Given the description of an element on the screen output the (x, y) to click on. 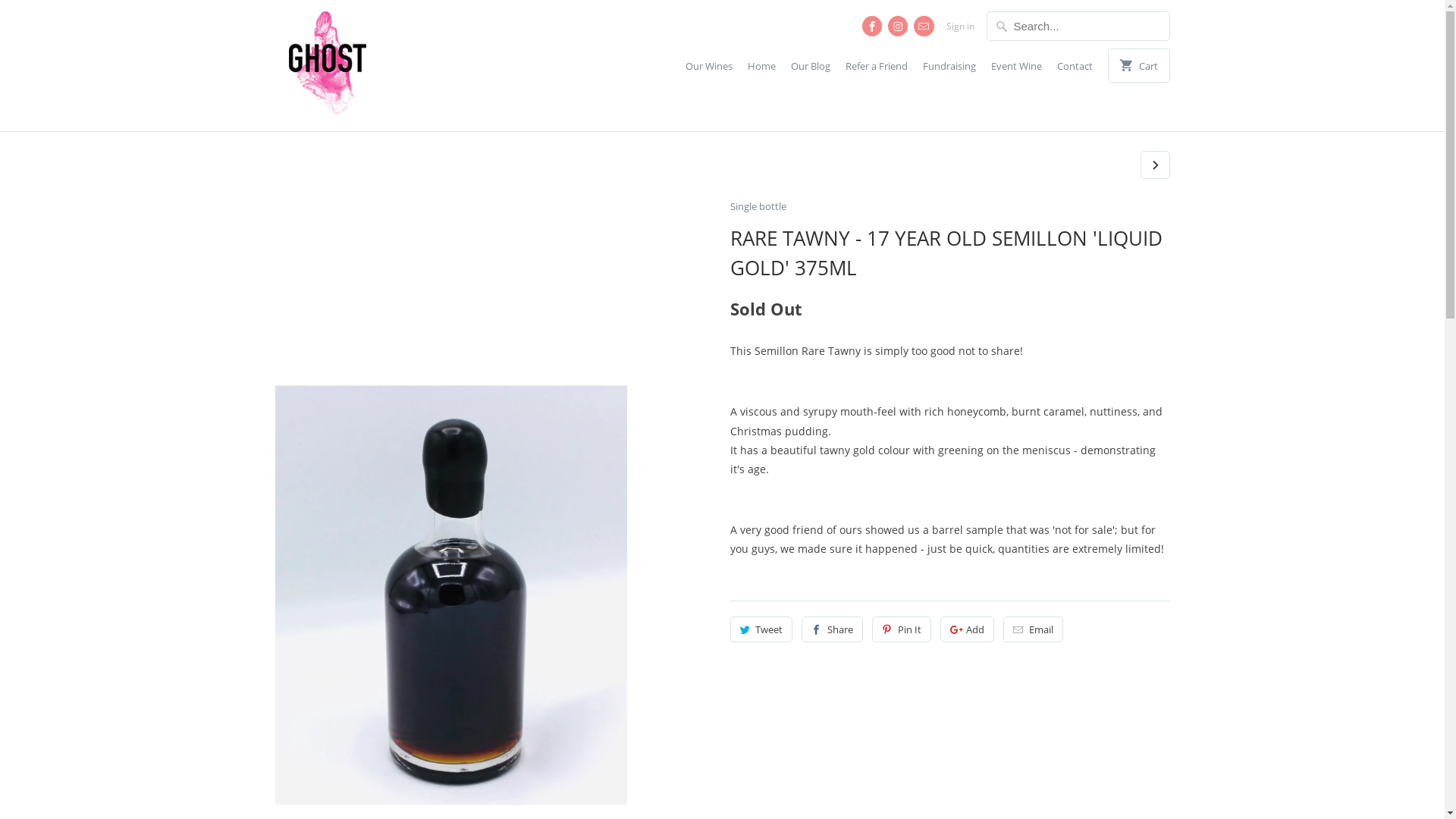
Single bottle Element type: text (949, 210)
Our Wines Element type: text (708, 69)
Pin It Element type: text (901, 629)
Email Element type: text (1033, 629)
Event Wine Element type: text (1016, 69)
Tweet Element type: text (760, 629)
Add Element type: text (967, 629)
Ghost Wines on Facebook Element type: hover (871, 25)
Ghost Wines on Instagram Element type: hover (897, 25)
Share Element type: text (831, 629)
Home Element type: text (761, 69)
Sign in Element type: text (960, 26)
Fundraising Element type: text (948, 69)
Refer a Friend Element type: text (876, 69)
Ghost Wines Element type: hover (380, 65)
Cart Element type: text (1138, 65)
Email Ghost Wines Element type: hover (923, 25)
Our Blog Element type: text (810, 69)
Contact Element type: text (1074, 69)
